Given the description of an element on the screen output the (x, y) to click on. 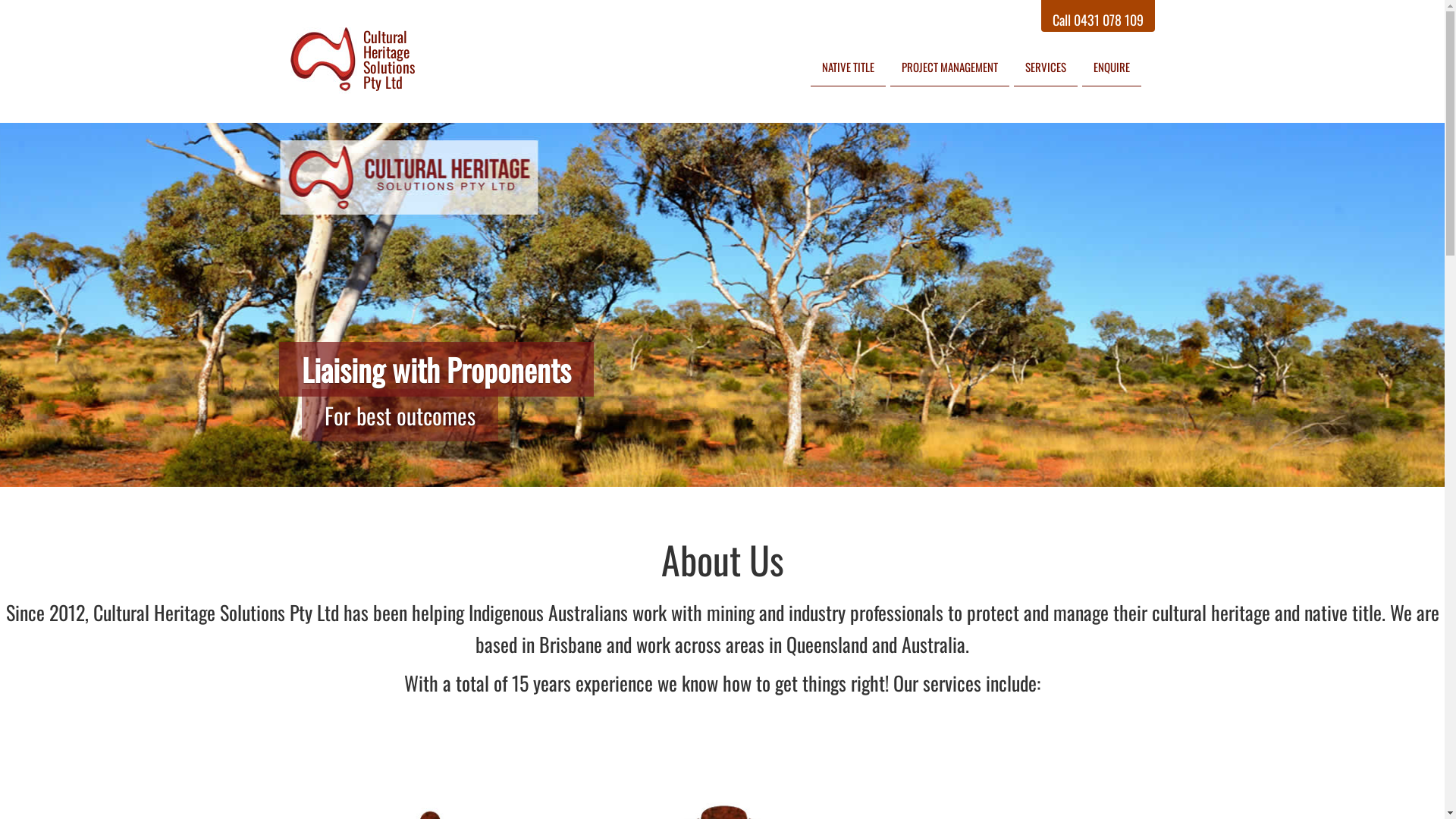
1 Element type: text (704, 504)
2 Element type: text (722, 504)
SERVICES Element type: text (1044, 66)
3 Element type: text (739, 504)
Cultural
Heritage
Solutions
Pty Ltd Element type: text (408, 61)
Call 0431 078 109 Element type: text (1098, 15)
NATIVE TITLE Element type: text (846, 66)
ENQUIRE Element type: text (1110, 66)
PROJECT MANAGEMENT Element type: text (949, 66)
